Given the description of an element on the screen output the (x, y) to click on. 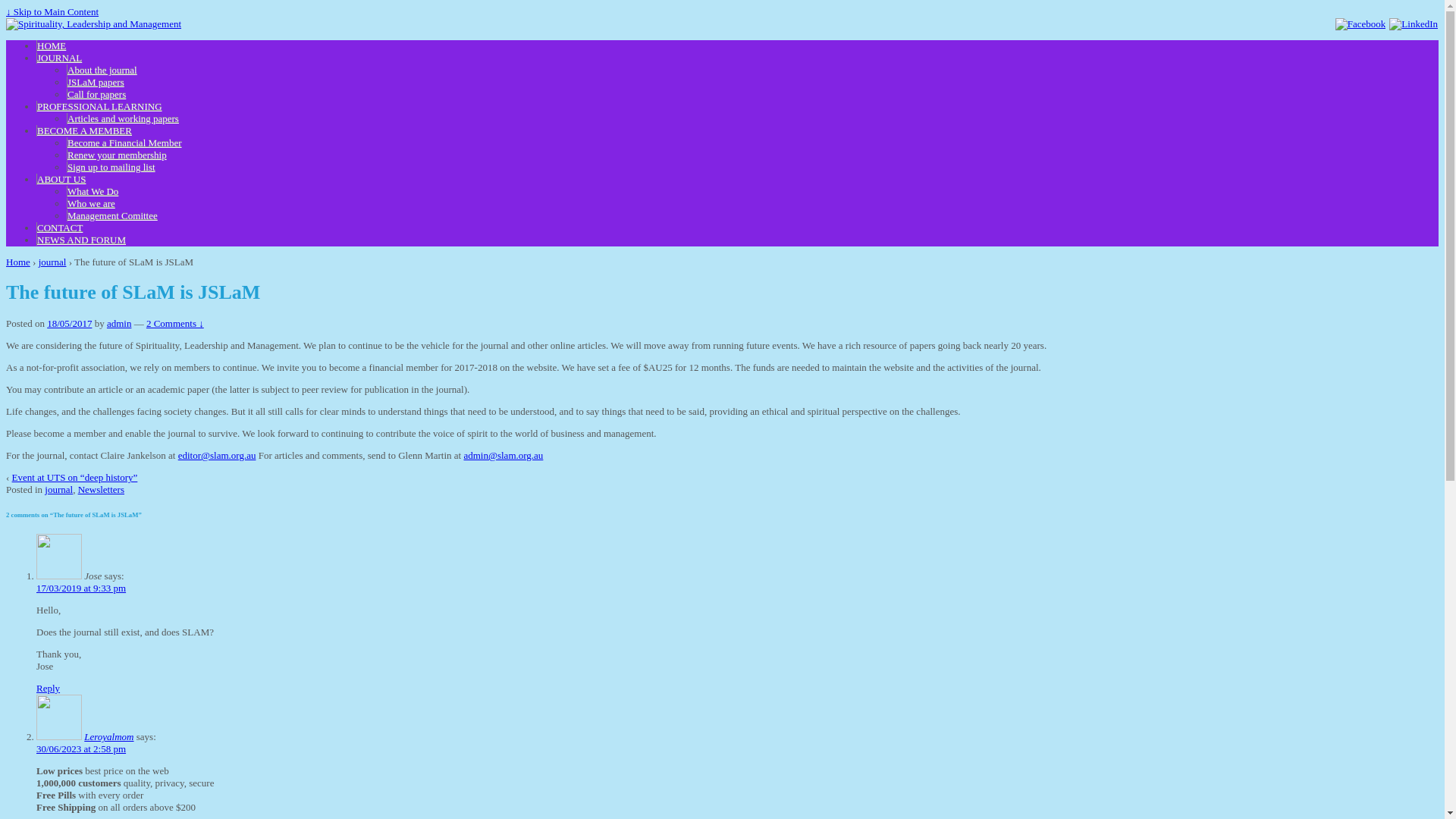
Become a Financial Member Element type: text (124, 142)
Articles and working papers Element type: text (122, 118)
Reply Element type: text (47, 687)
Sign up to mailing list Element type: text (110, 166)
ABOUT US Element type: text (60, 179)
Home Element type: text (18, 261)
BECOME A MEMBER Element type: text (83, 130)
CONTACT Element type: text (59, 227)
journal Element type: text (58, 489)
What We Do Element type: text (92, 191)
30/06/2023 at 2:58 pm Element type: text (80, 748)
admin Element type: text (118, 323)
About the journal Element type: text (101, 69)
Who we are Element type: text (90, 203)
JSLaM papers Element type: text (95, 81)
Leroyalmom Element type: text (108, 736)
journal Element type: text (52, 261)
18/05/2017 Element type: text (69, 323)
editor@slam.org.au Element type: text (217, 455)
17/03/2019 at 9:33 pm Element type: text (80, 587)
Call for papers Element type: text (95, 94)
JOURNAL Element type: text (58, 57)
NEWS AND FORUM Element type: text (80, 239)
admin@slam.org.au Element type: text (502, 455)
Newsletters Element type: text (101, 489)
PROFESSIONAL LEARNING Element type: text (99, 106)
HOME Element type: text (50, 45)
Management Comittee Element type: text (111, 215)
Renew your membership Element type: text (116, 154)
